Given the description of an element on the screen output the (x, y) to click on. 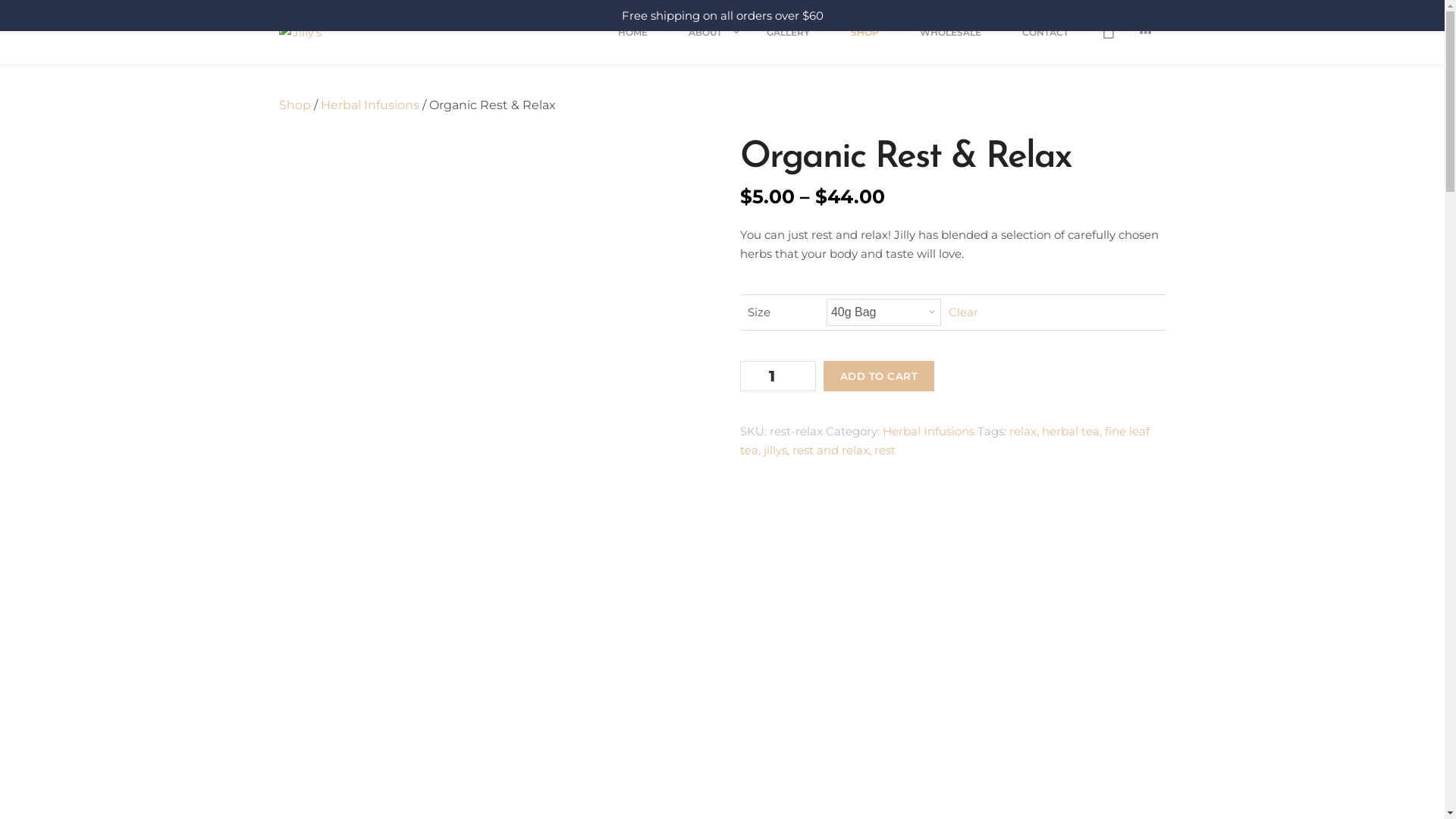
GALLERY Element type: text (787, 43)
jillys Element type: text (775, 449)
Shop Element type: text (294, 104)
Herbal Infusions Element type: text (369, 104)
WHOLESALE Element type: text (950, 43)
herbal tea Element type: text (1070, 430)
ABOUT Element type: text (705, 43)
CONTACT Element type: text (1044, 43)
rest Element type: text (884, 449)
relax Element type: text (1022, 430)
ADD TO CART Element type: text (879, 375)
rest and relax Element type: text (830, 449)
SHOP Element type: text (864, 43)
Herbal Infusions Element type: text (928, 430)
fine leaf tea Element type: text (944, 440)
Clear Element type: text (963, 311)
HOME Element type: text (632, 43)
